Given the description of an element on the screen output the (x, y) to click on. 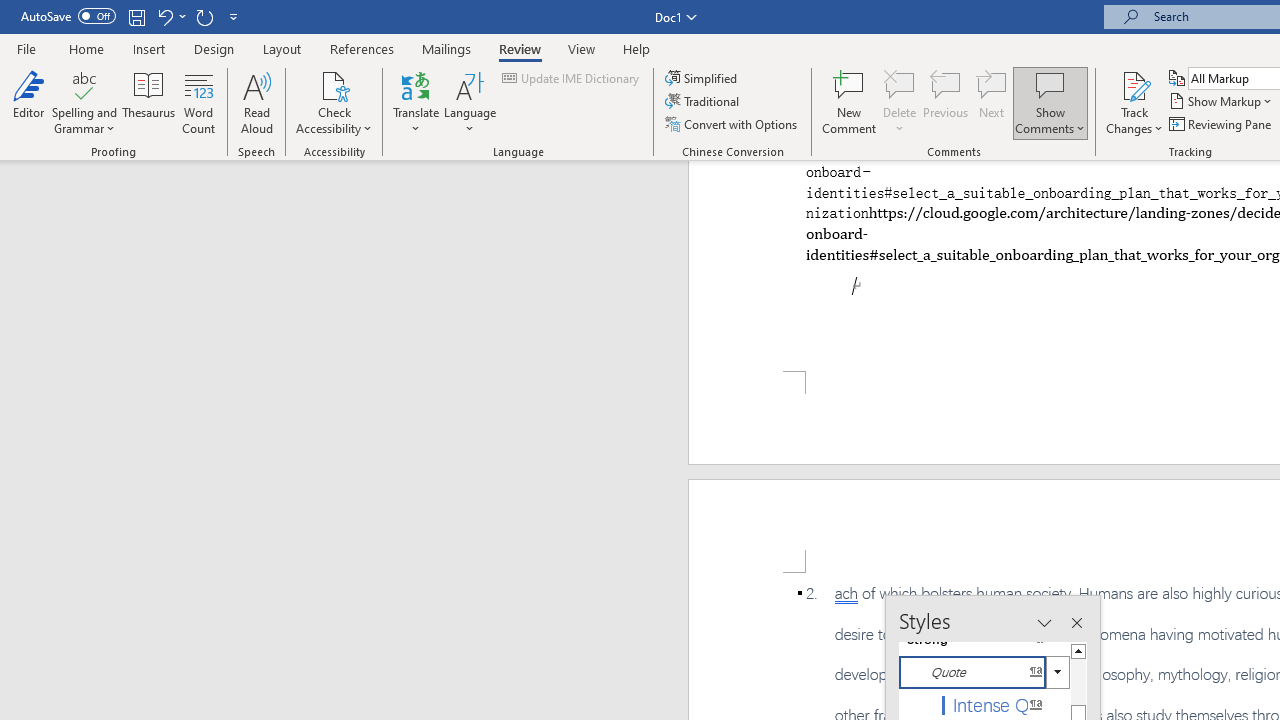
Read Aloud (256, 102)
Delete (900, 102)
Check Accessibility (334, 84)
